Given the description of an element on the screen output the (x, y) to click on. 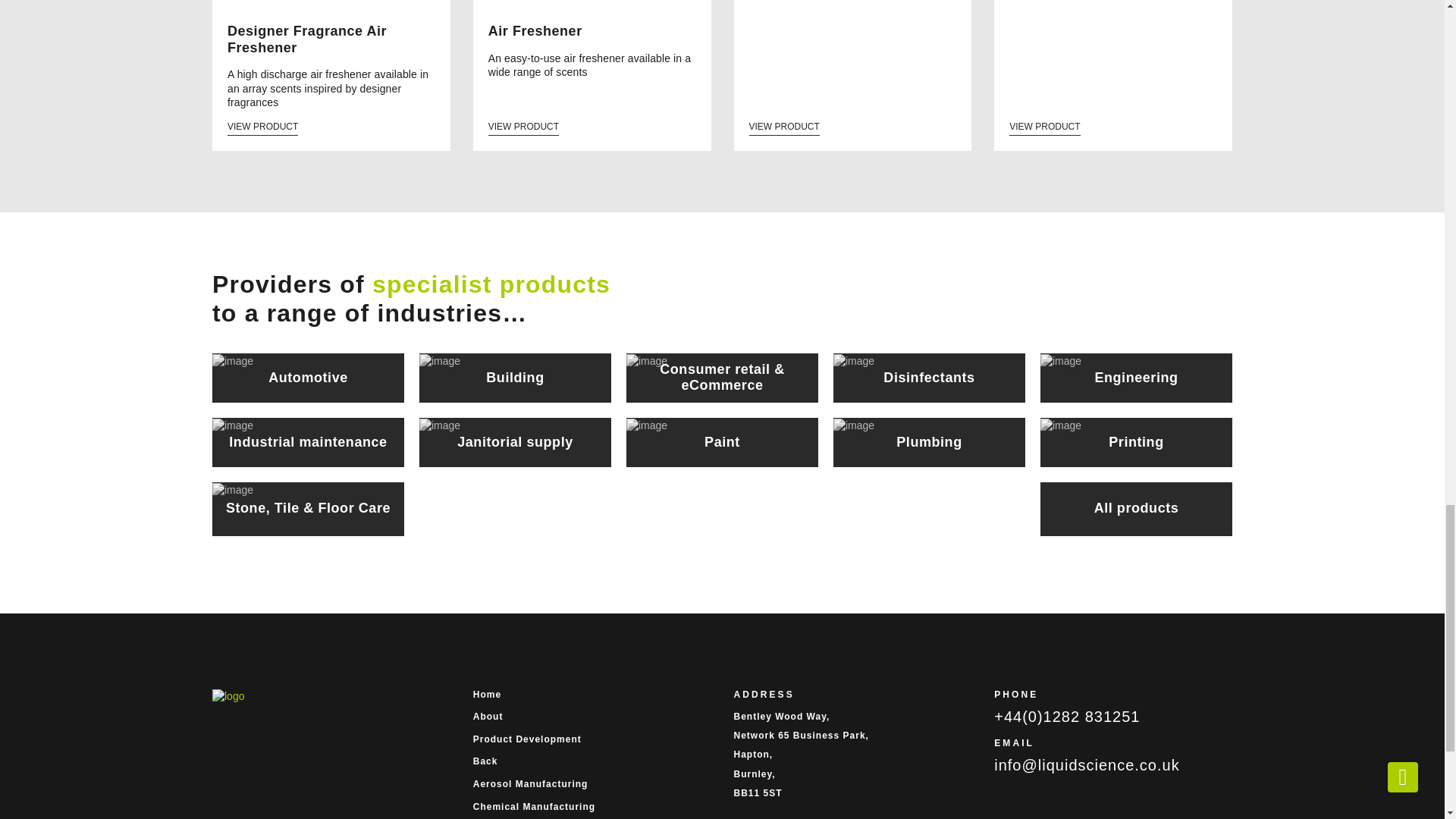
All products (1136, 509)
Plumbing (928, 441)
Printing (1136, 441)
Chemical Manufacturing (592, 806)
Back (592, 760)
Janitorial supply (515, 441)
Engineering (1136, 377)
Product Development (592, 738)
Automotive (308, 377)
Building (515, 377)
Industrial maintenance (308, 441)
Paint (722, 441)
